Given the description of an element on the screen output the (x, y) to click on. 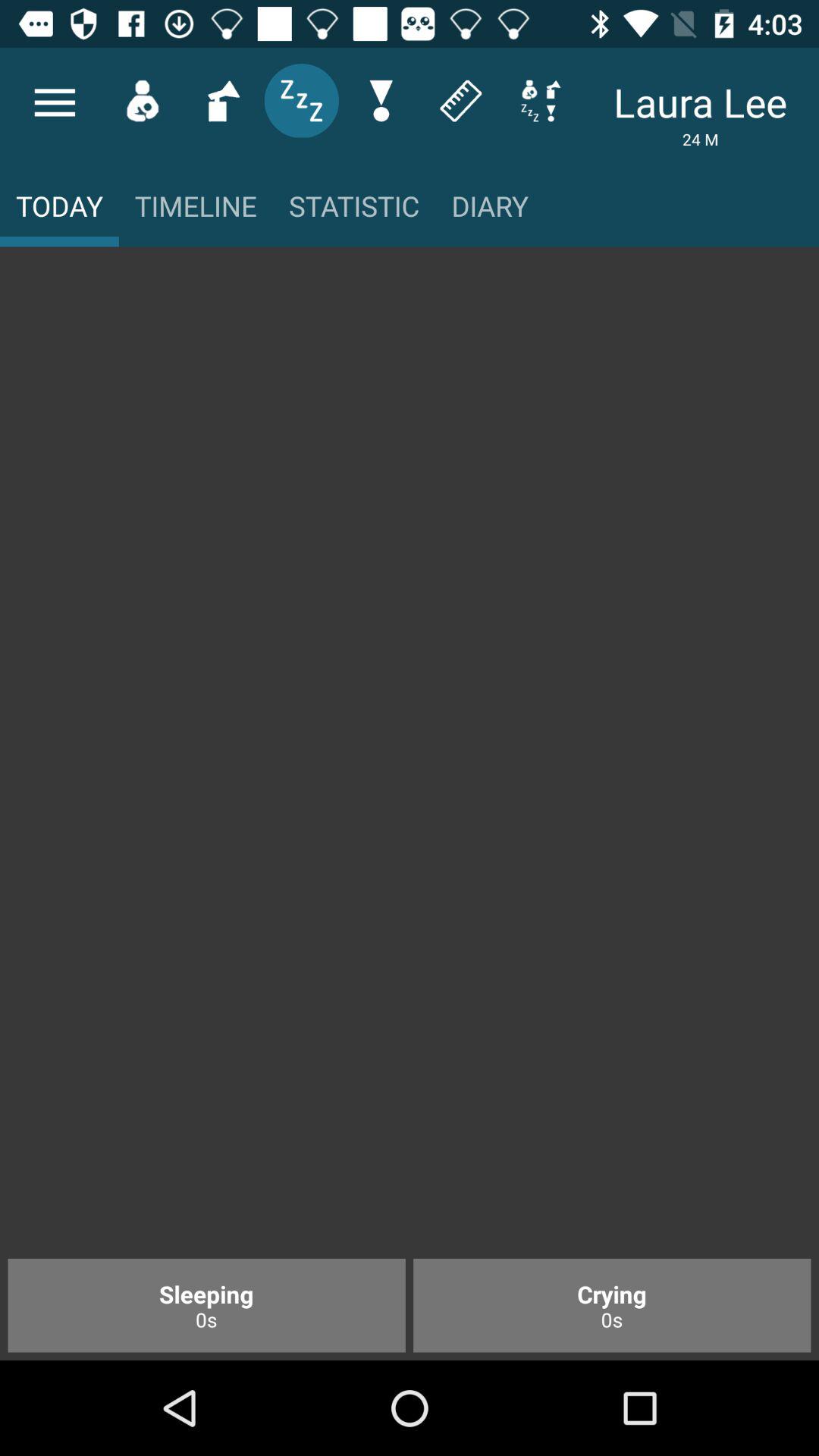
turn off the icon to the left of crying
0s (206, 1305)
